Given the description of an element on the screen output the (x, y) to click on. 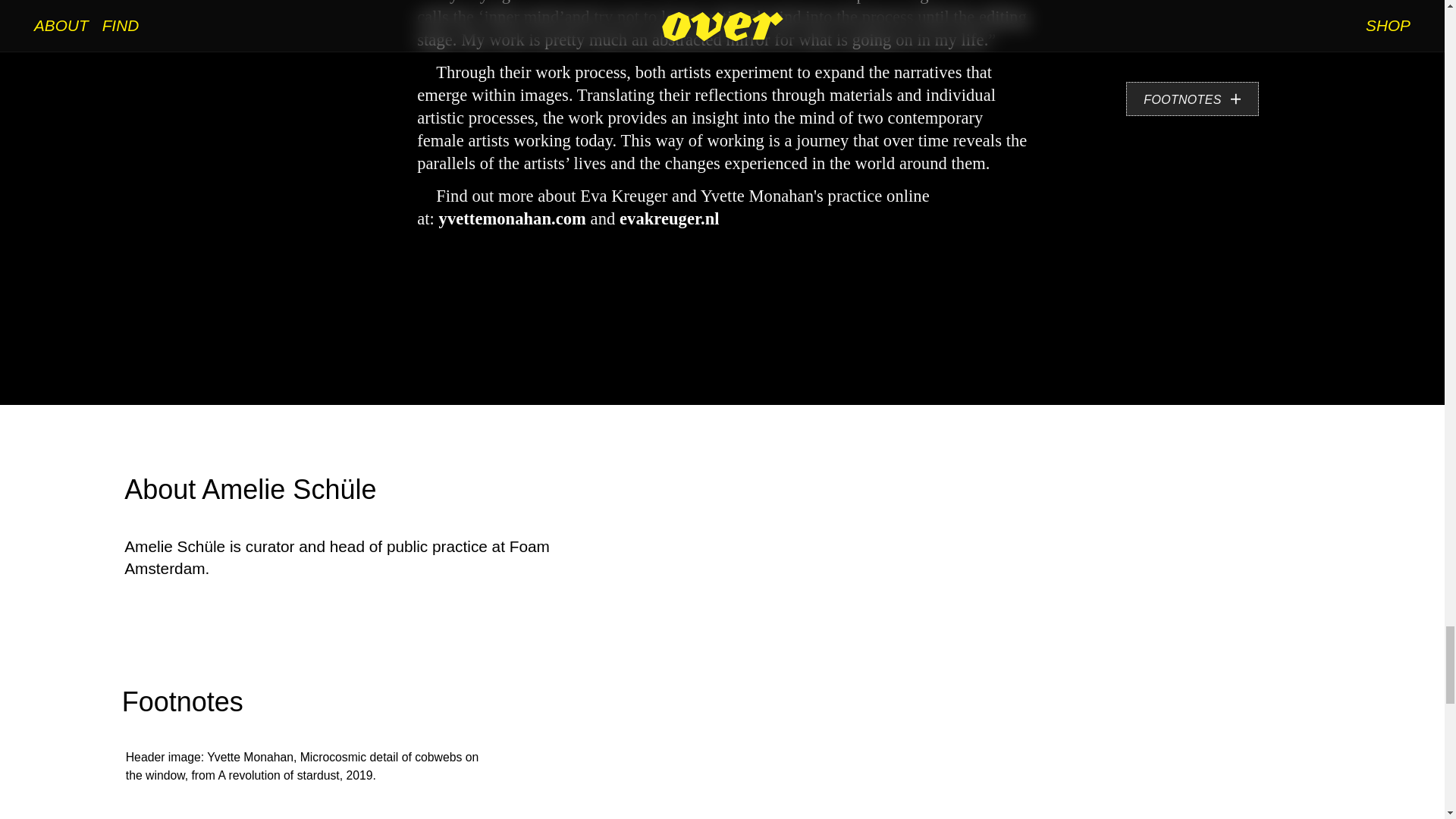
yvettemonahan.com (512, 218)
evakreuger.nl (669, 218)
